Given the description of an element on the screen output the (x, y) to click on. 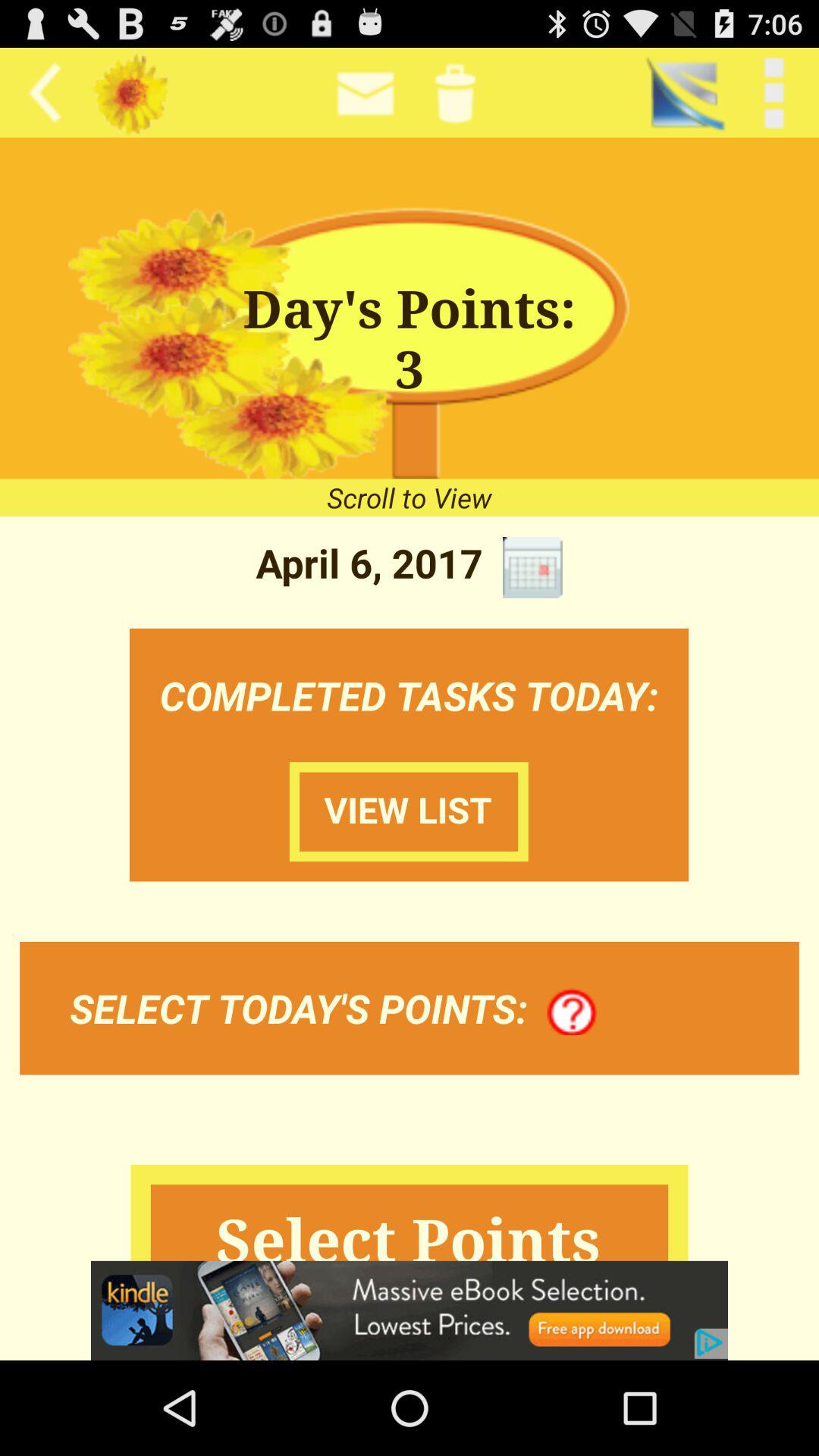
tap the item above select points icon (572, 1012)
